Given the description of an element on the screen output the (x, y) to click on. 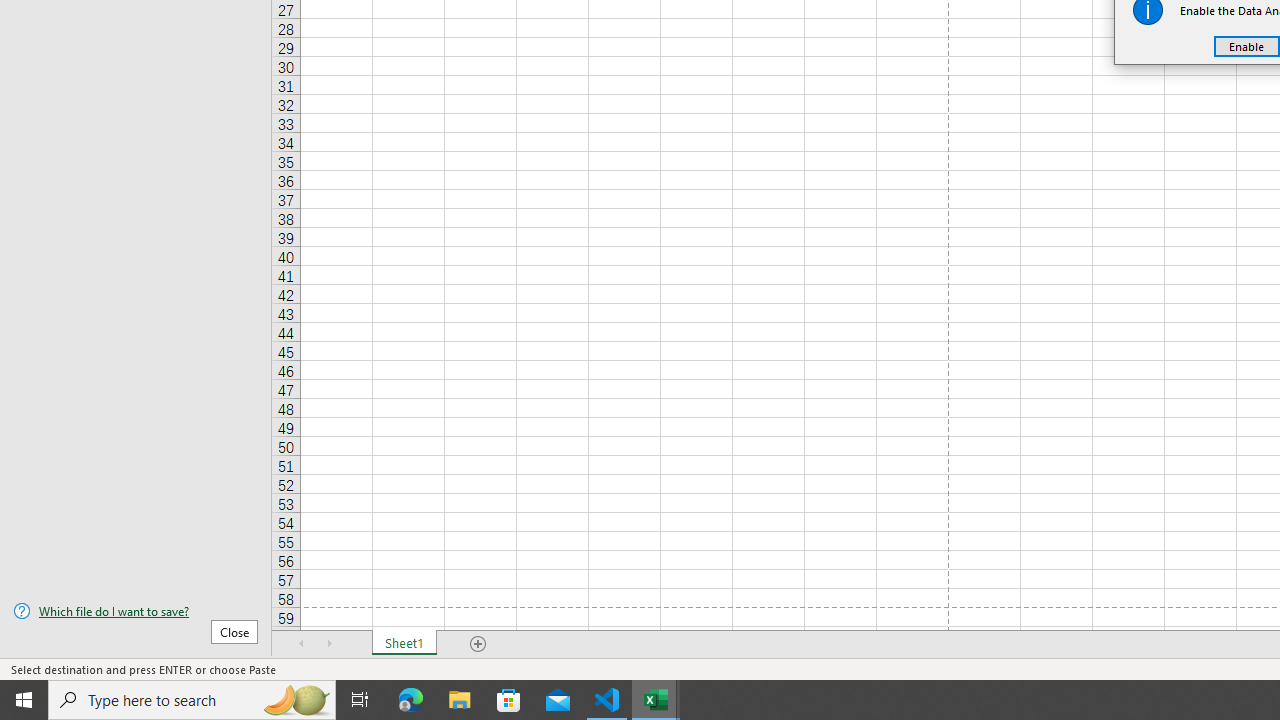
Search highlights icon opens search home window (295, 699)
Microsoft Store (509, 699)
Microsoft Edge (411, 699)
Start (24, 699)
File Explorer (460, 699)
Visual Studio Code - 1 running window (607, 699)
Task View (359, 699)
Type here to search (191, 699)
